Given the description of an element on the screen output the (x, y) to click on. 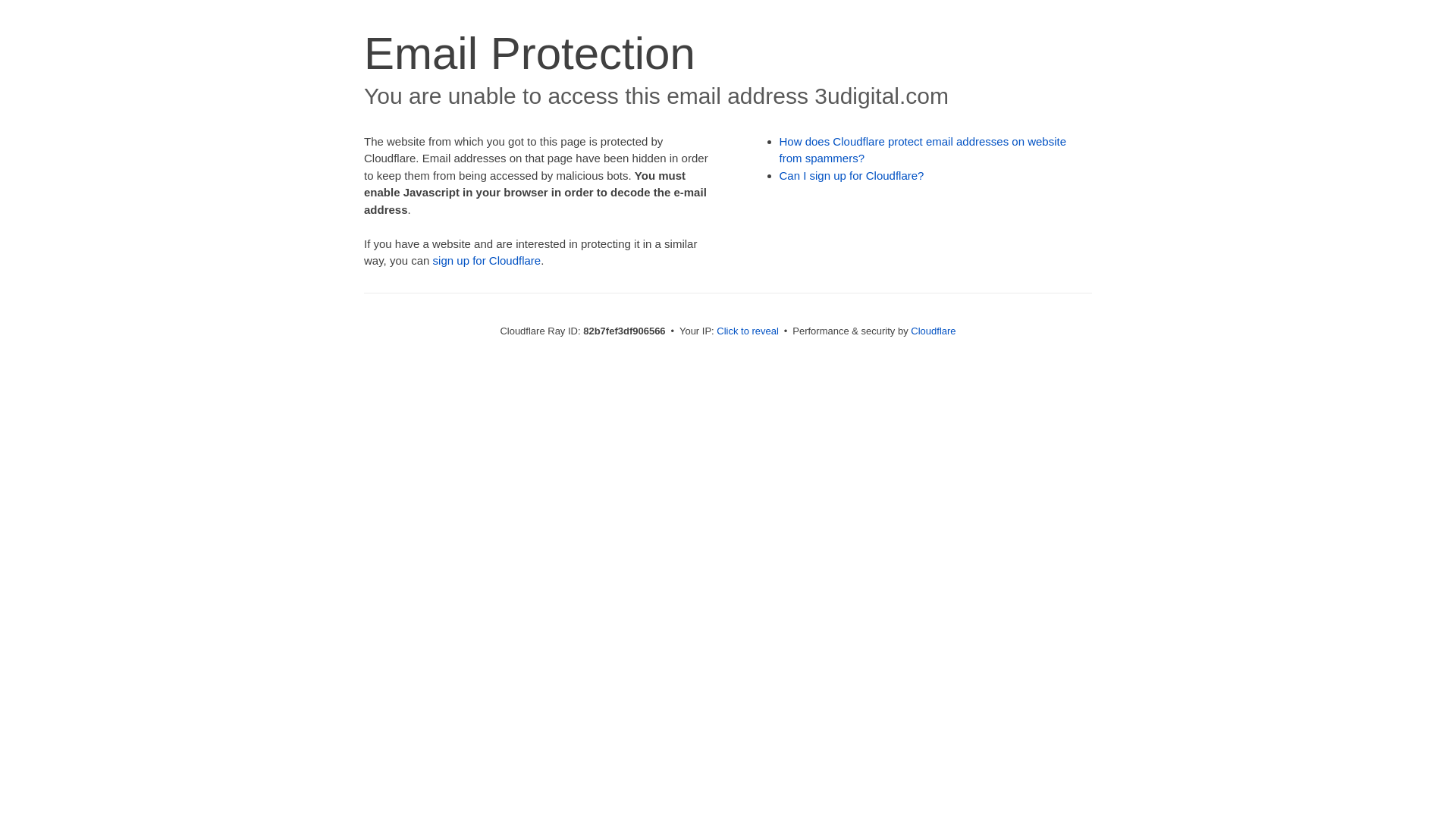
Can I sign up for Cloudflare? Element type: text (851, 175)
Click to reveal Element type: text (747, 330)
Cloudflare Element type: text (932, 330)
sign up for Cloudflare Element type: text (487, 260)
